Given the description of an element on the screen output the (x, y) to click on. 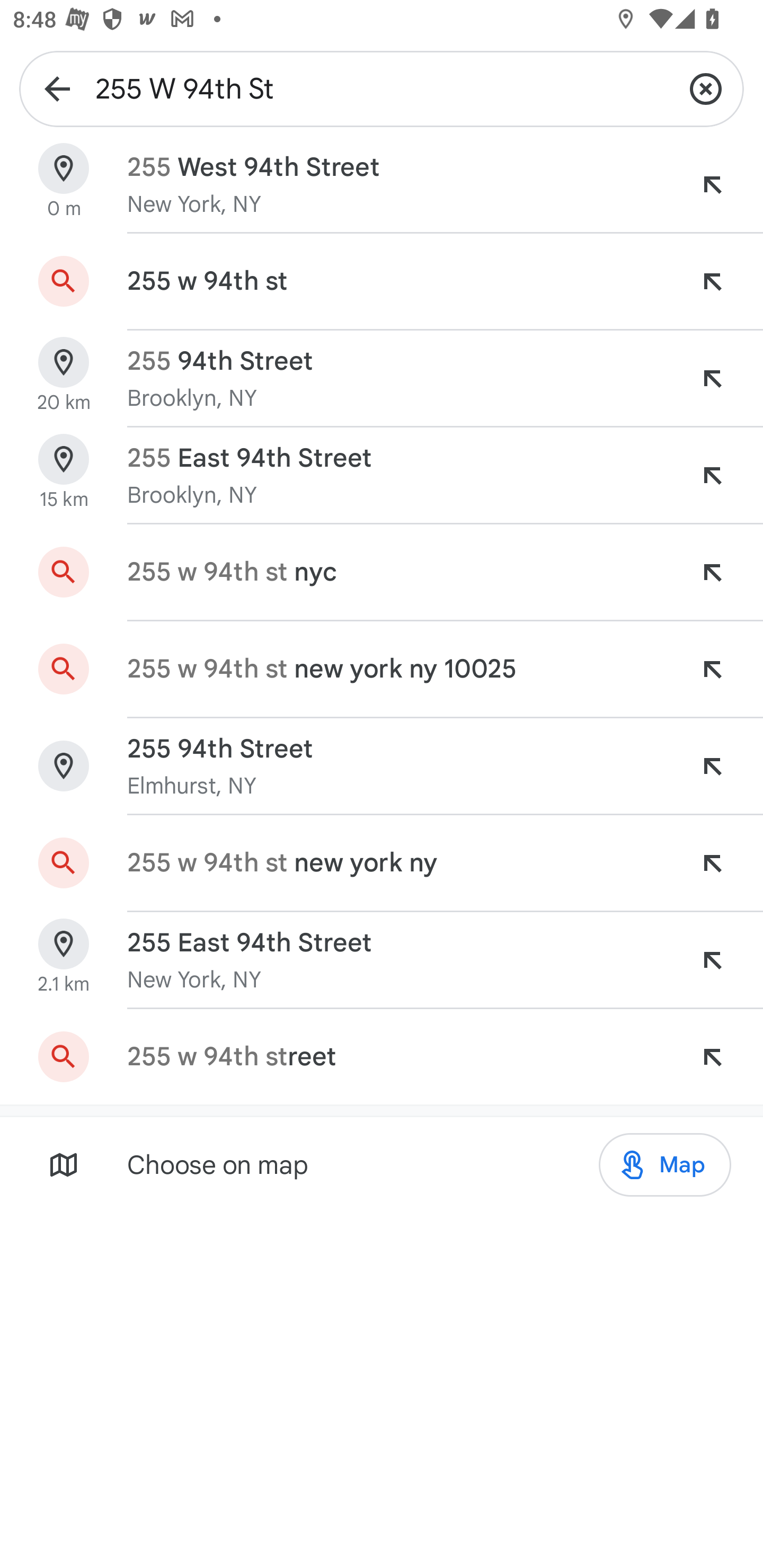
Navigate up (57, 88)
255 W 94th St (381, 88)
Clear (705, 88)
Choose on map Map Map Map (381, 1164)
Map Map Map (664, 1164)
